Given the description of an element on the screen output the (x, y) to click on. 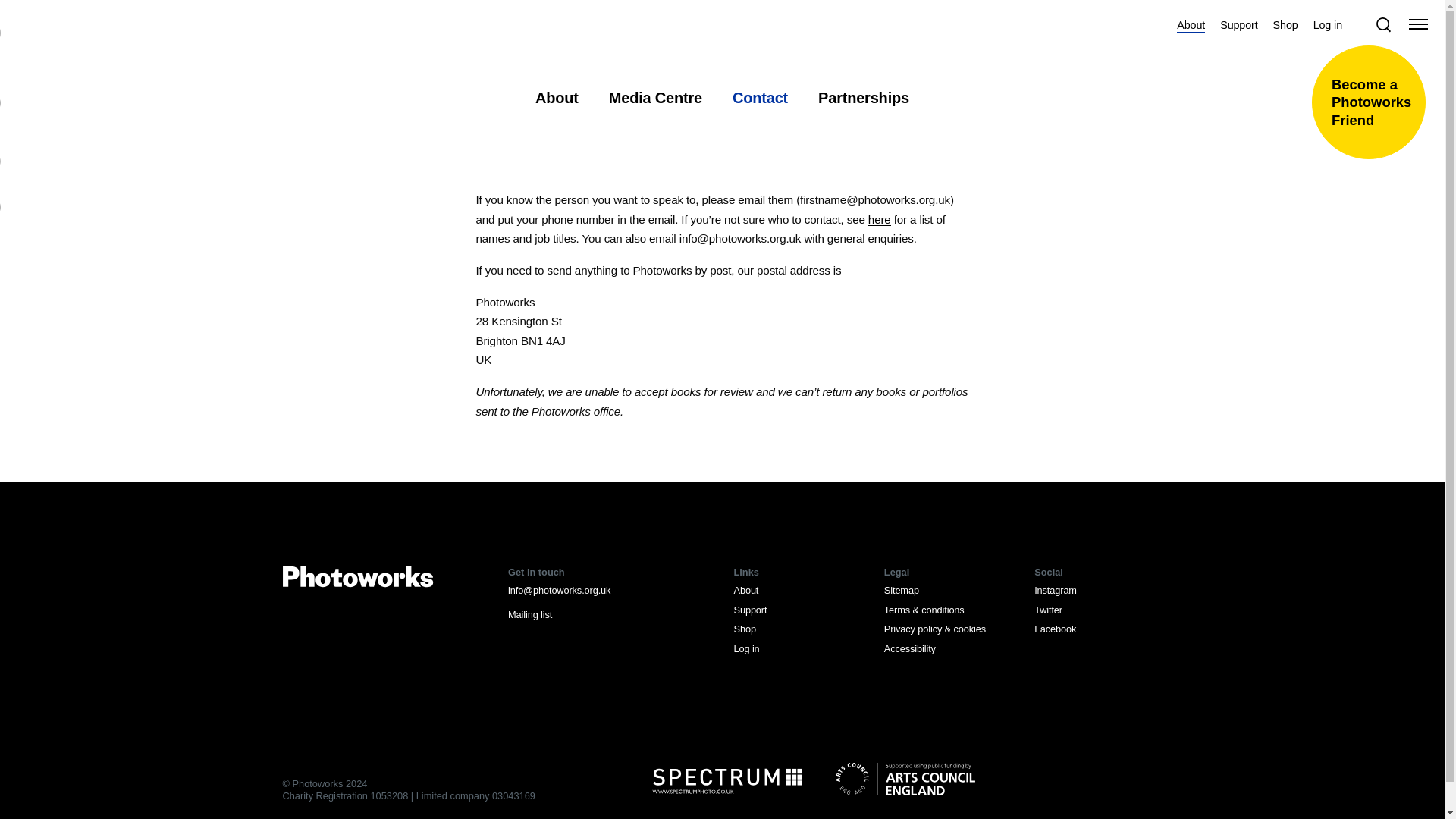
Log in (1327, 21)
About (745, 590)
Support (1238, 21)
Support (750, 609)
About (1190, 21)
Media Centre (654, 97)
Accessibility (909, 648)
Contact (759, 97)
Shop (744, 628)
Shop (1285, 21)
Log in (746, 648)
here (879, 219)
About (556, 97)
Sitemap (900, 590)
Mailing list (529, 614)
